Given the description of an element on the screen output the (x, y) to click on. 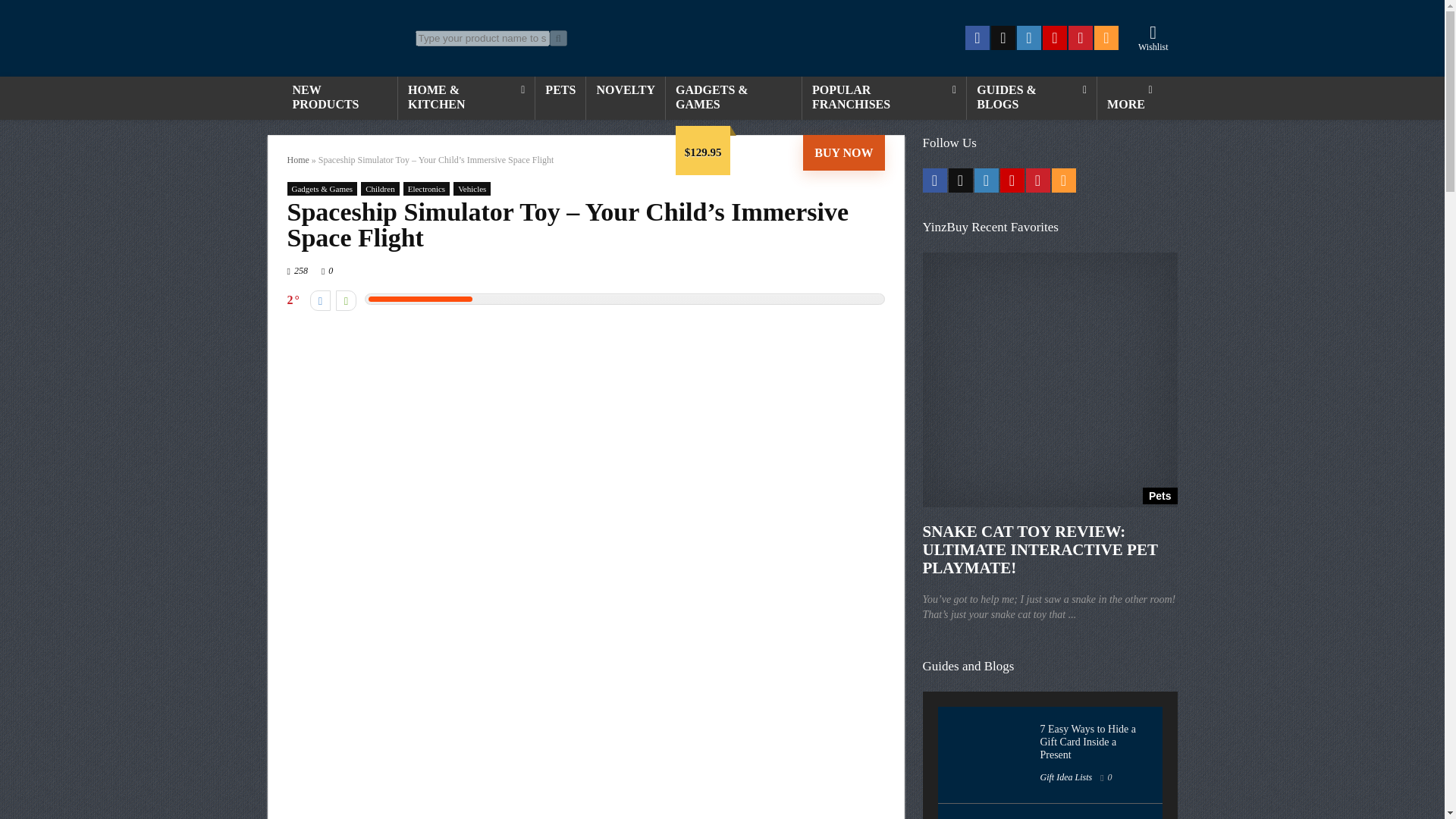
Vote down (320, 300)
NOVELTY (625, 90)
PETS (560, 90)
POPULAR FRANCHISES (884, 97)
NEW PRODUCTS (339, 97)
View all posts in Vehicles (471, 188)
View all posts in Electronics (426, 188)
View all posts in Children (379, 188)
Vote up (346, 300)
